Given the description of an element on the screen output the (x, y) to click on. 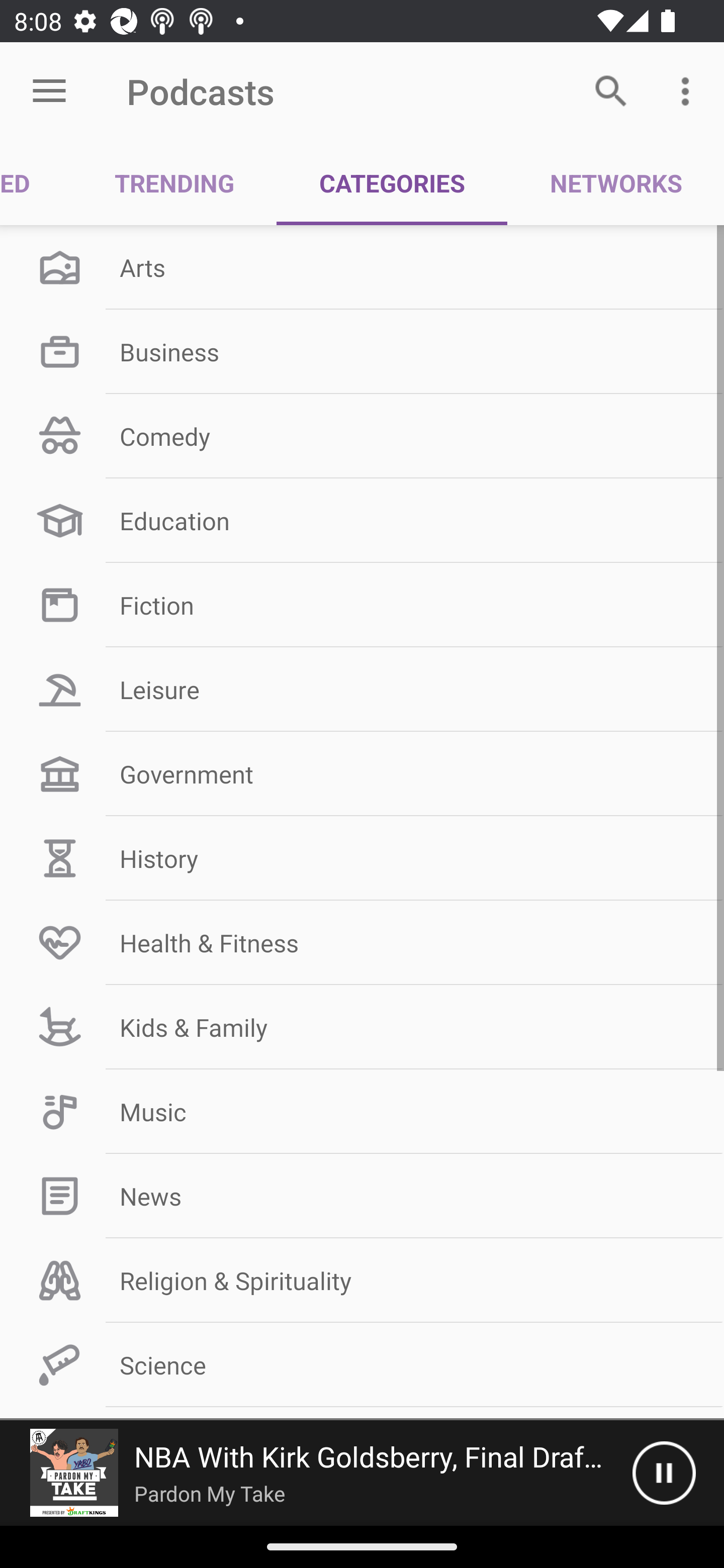
Open menu (49, 91)
Search (611, 90)
More options (688, 90)
TRENDING (174, 183)
CATEGORIES (391, 183)
NETWORKS (615, 183)
Arts (362, 266)
Business (362, 350)
Comedy (362, 435)
Education (362, 520)
Fiction (362, 604)
Leisure (362, 689)
Government (362, 774)
History (362, 858)
Health & Fitness (362, 942)
Kids & Family (362, 1026)
Music (362, 1111)
News (362, 1196)
Religion & Spirituality (362, 1280)
Science (362, 1364)
Pause (663, 1472)
